Given the description of an element on the screen output the (x, y) to click on. 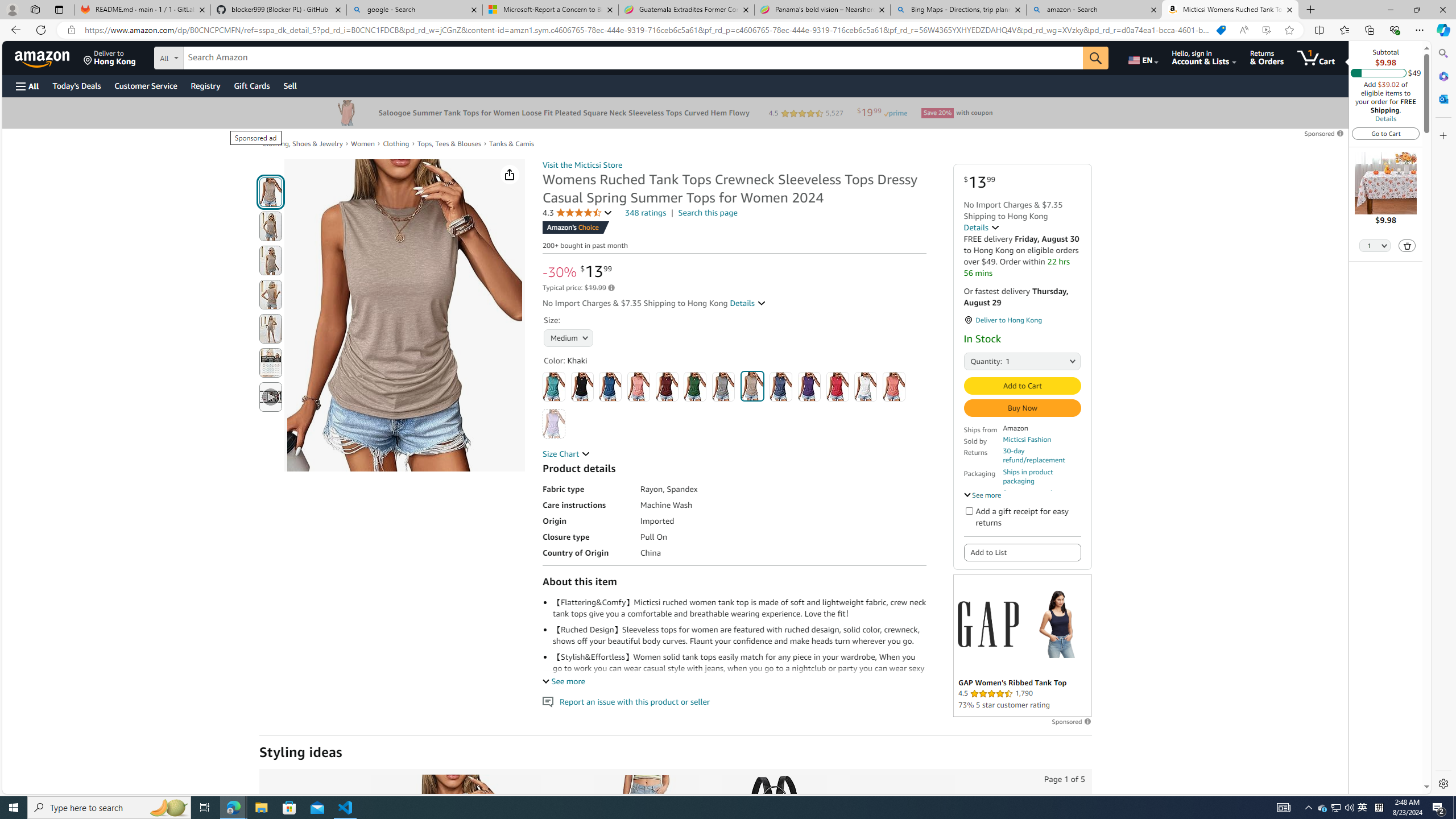
AutomationID: native_dropdown_selected_size_name (567, 337)
Share (509, 174)
Green (695, 386)
Add a gift receipt for easy returns (968, 510)
Visit the Micticsi Store (583, 164)
Registry (205, 85)
